Given the description of an element on the screen output the (x, y) to click on. 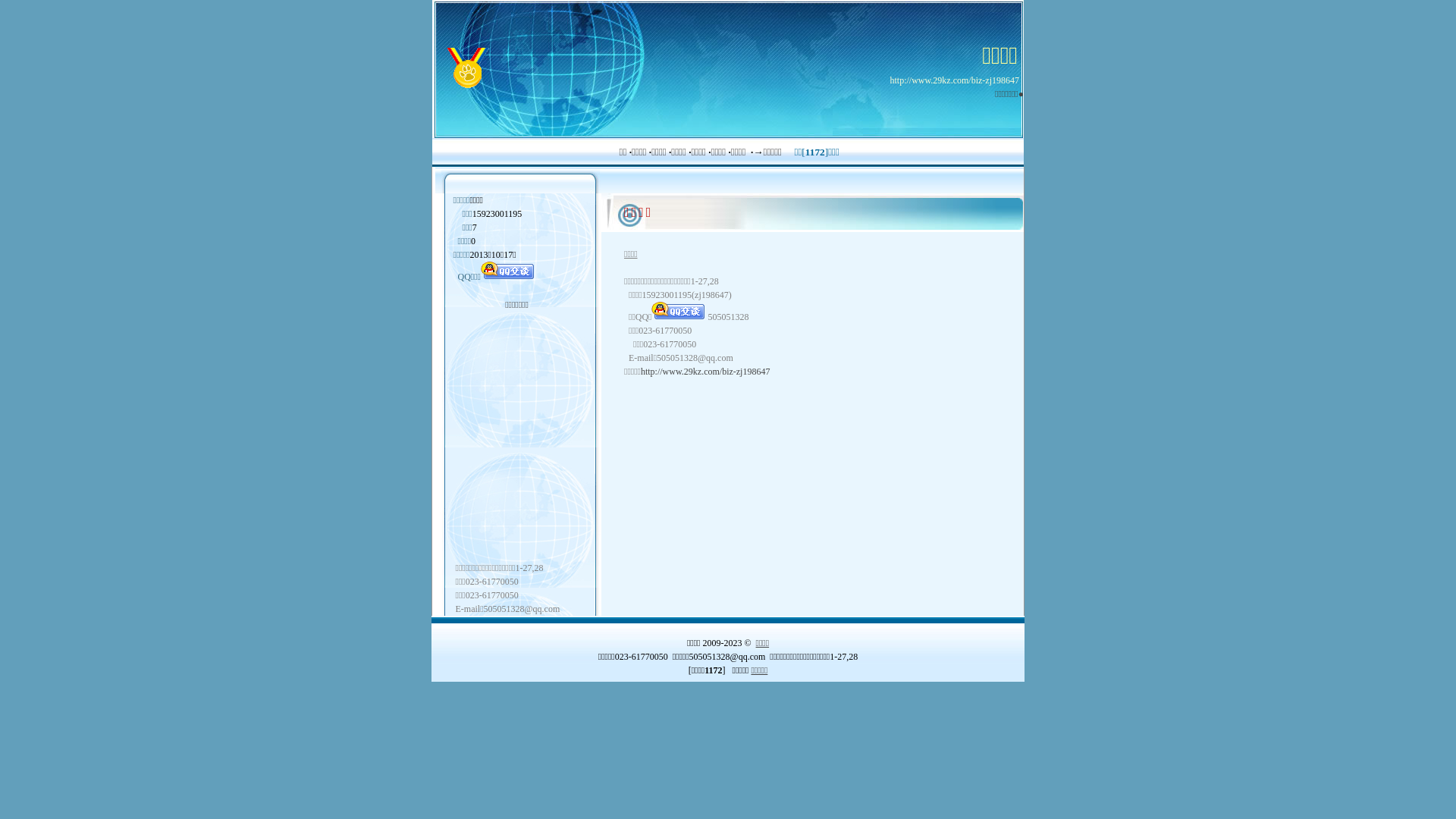
http://www.29kz.com/biz-zj198647 Element type: text (954, 80)
http://www.29kz.com/biz-zj198647 Element type: text (705, 371)
